Given the description of an element on the screen output the (x, y) to click on. 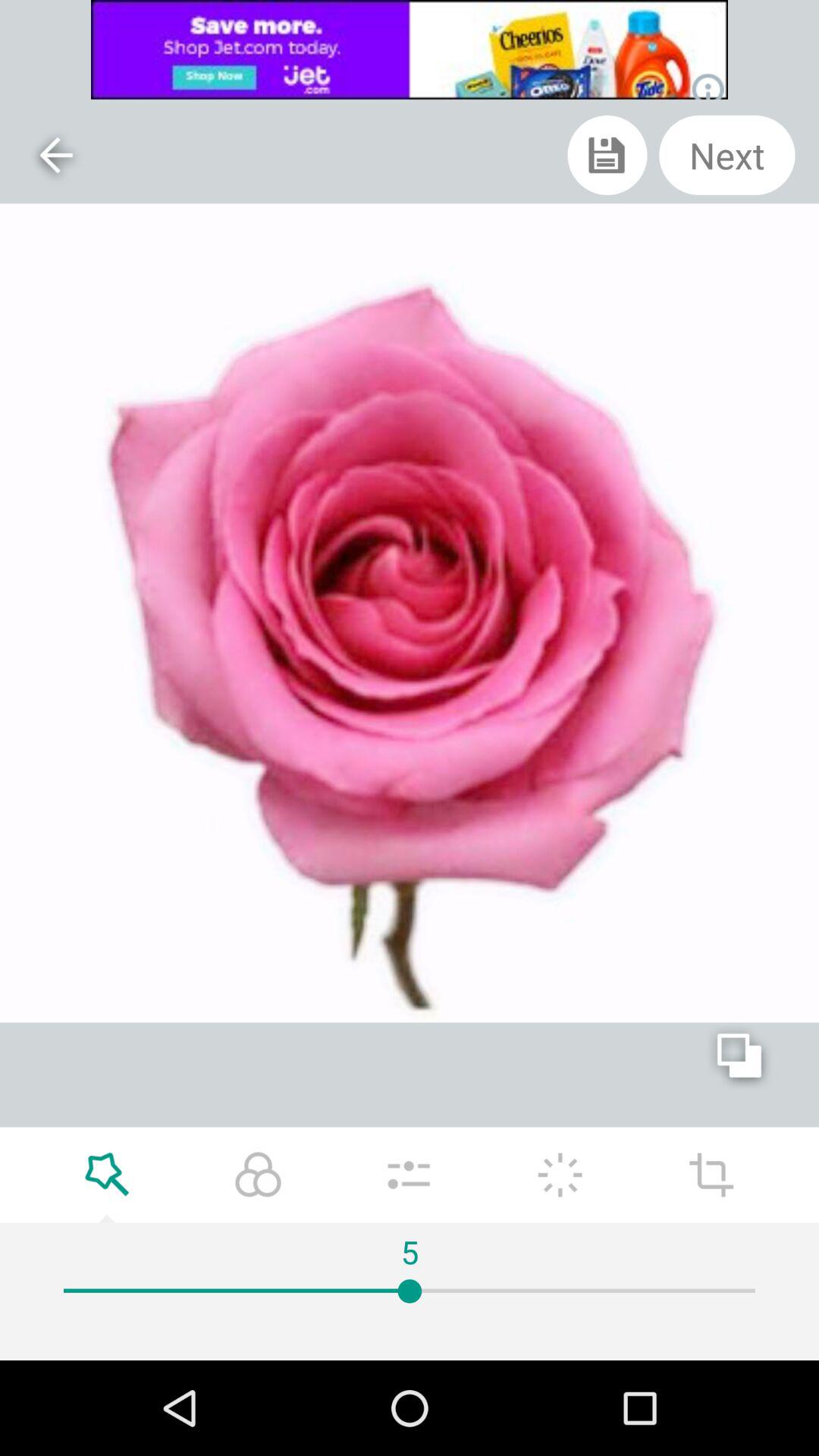
edit brightness (559, 1174)
